Given the description of an element on the screen output the (x, y) to click on. 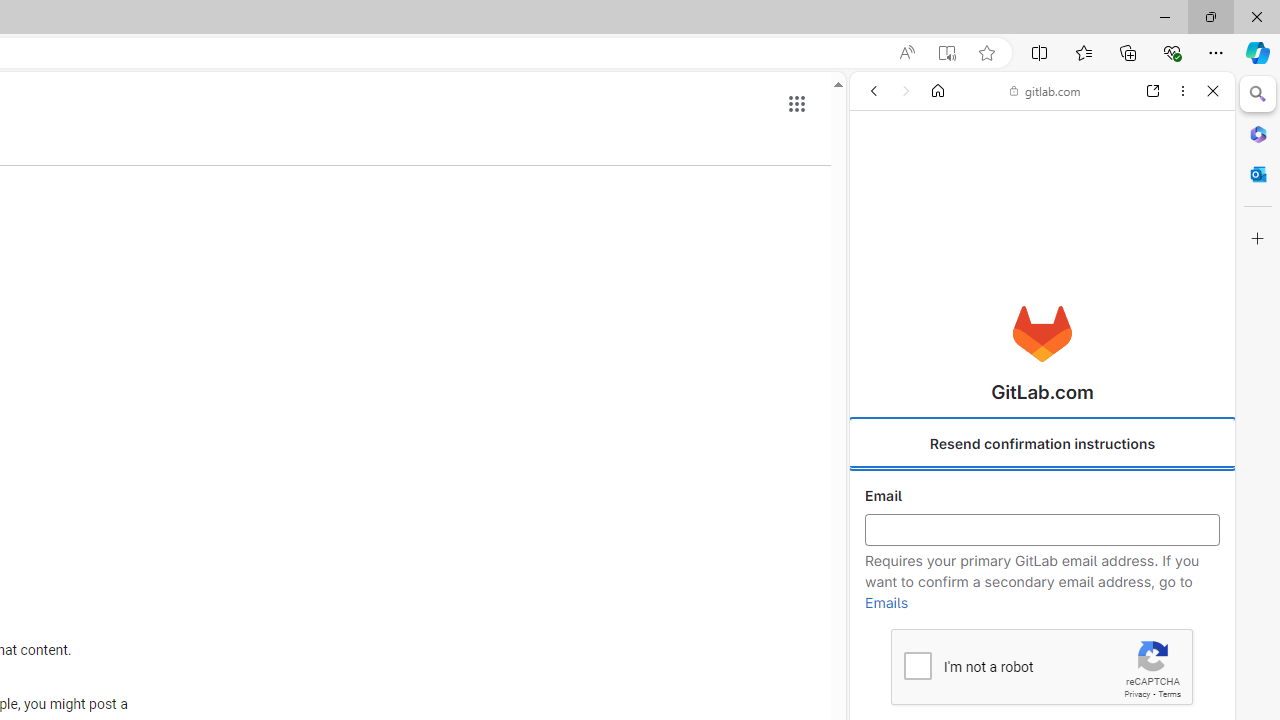
Global web icon (888, 288)
Search Filter, Search Tools (1090, 228)
Dashboard (1042, 641)
Class: b_serphb (1190, 229)
ALL   (881, 228)
Register Now (1042, 445)
Split screen (1039, 52)
Search Filter, IMAGES (936, 228)
Dashboard (1042, 641)
About GitLab (1042, 592)
IMAGES (936, 228)
Forward (906, 91)
